Given the description of an element on the screen output the (x, y) to click on. 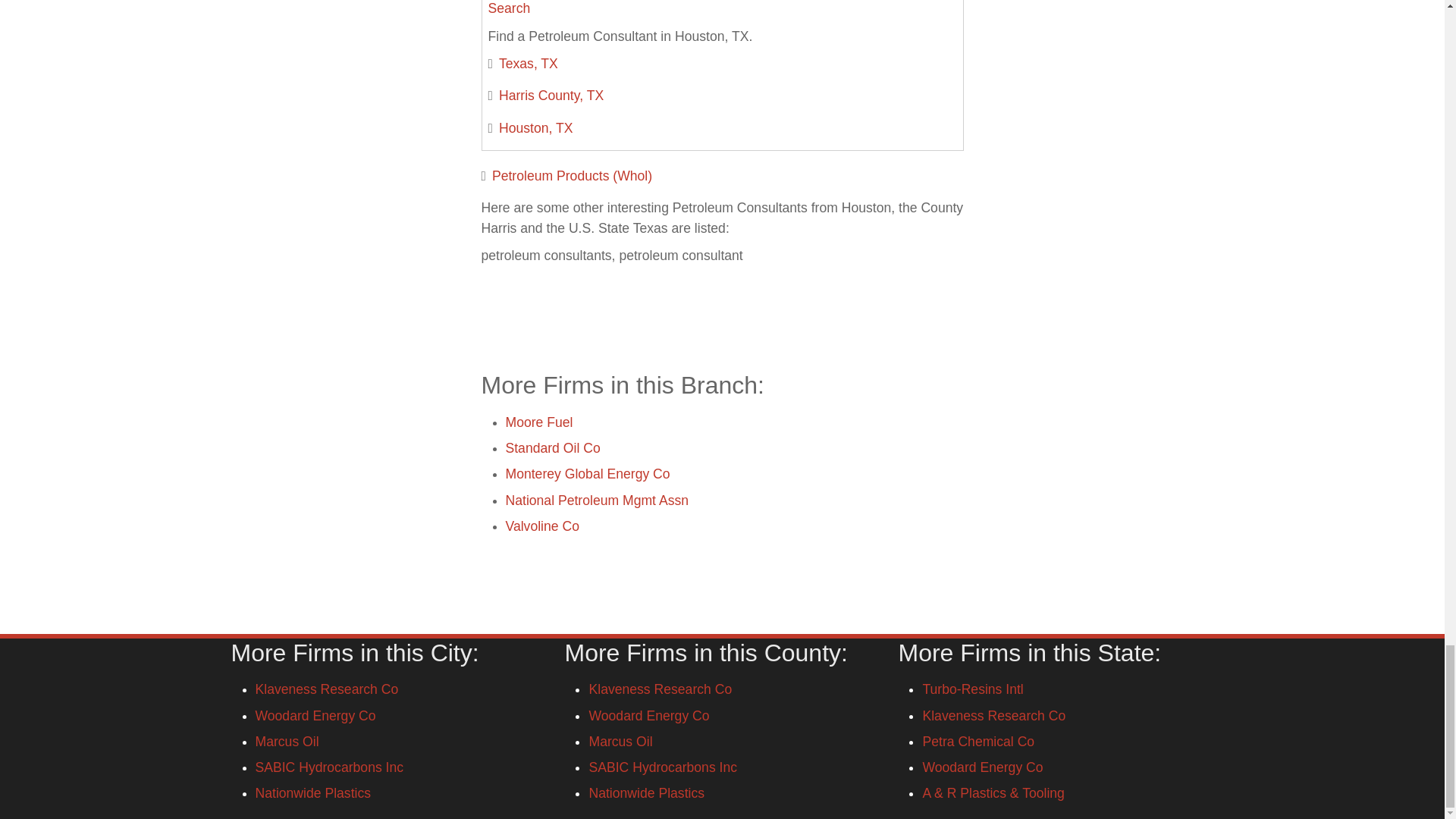
National Petroleum Mgmt Assn (596, 500)
Texas, TX (528, 63)
Houston, TX (535, 127)
Moore Fuel (538, 421)
Search (509, 7)
Monterey Global Energy Co (587, 473)
Harris County, TX (551, 95)
Standard Oil Co (552, 447)
Valvoline Co (541, 525)
